Given the description of an element on the screen output the (x, y) to click on. 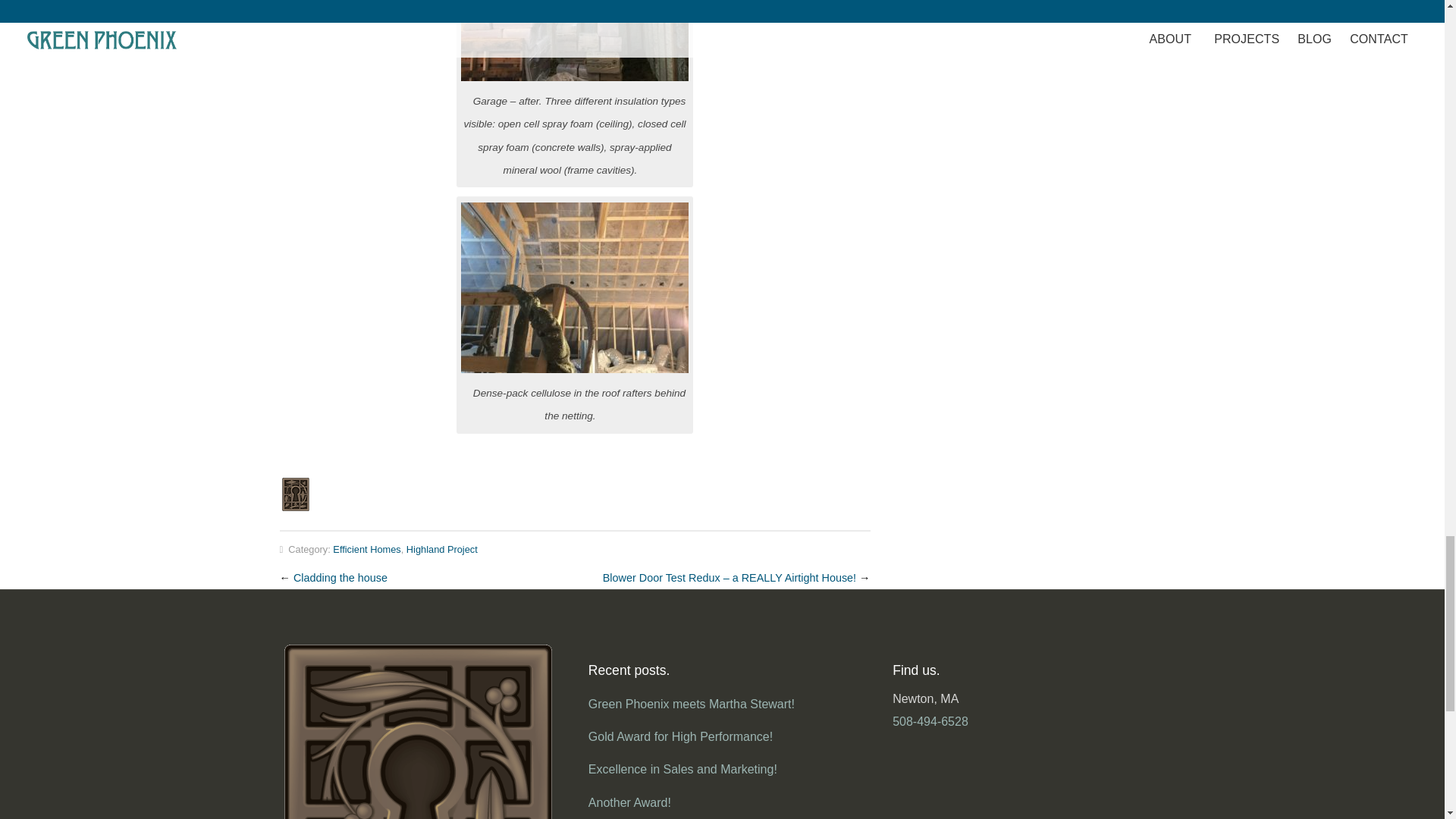
Cladding the house (340, 577)
Efficient Homes (366, 549)
Highland Project (441, 549)
